Given the description of an element on the screen output the (x, y) to click on. 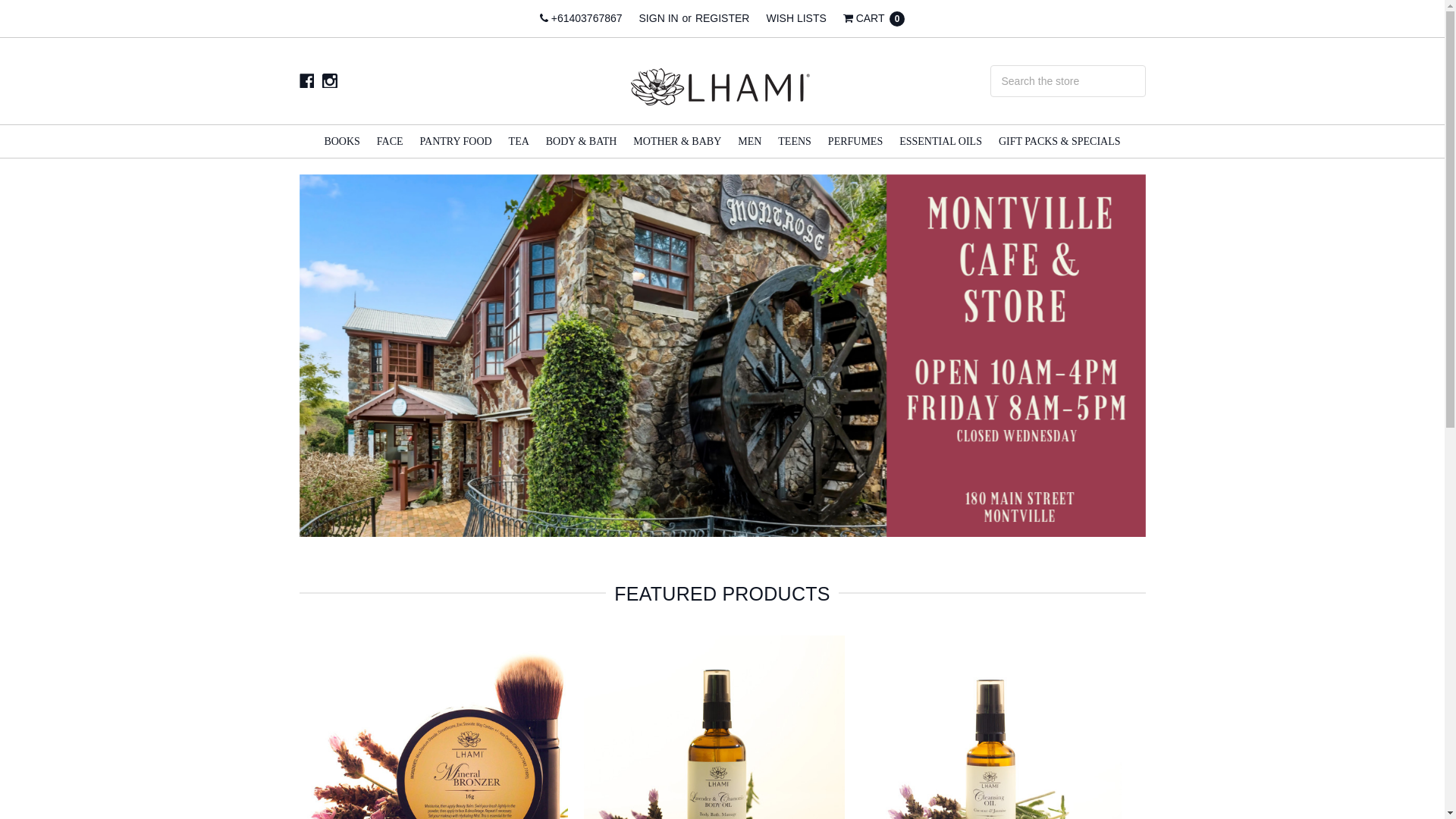
GIFT PACKS & SPECIALS Element type: text (1059, 141)
BOOKS Element type: text (341, 141)
MEN Element type: text (749, 141)
PERFUMES Element type: text (855, 141)
TEA Element type: text (518, 141)
FACE Element type: text (389, 141)
BODY & BATH Element type: text (581, 141)
TEENS Element type: text (794, 141)
WISH LISTS Element type: text (795, 18)
REGISTER Element type: text (722, 18)
CART 0 Element type: text (873, 18)
MOTHER & BABY Element type: text (676, 141)
+61403767867 Element type: text (580, 18)
Add to Wish List Element type: text (1104, 674)
Add to Wish List Element type: text (550, 674)
Lhami Element type: hover (722, 80)
Add to Wish List Element type: text (827, 674)
ESSENTIAL OILS Element type: text (940, 141)
SIGN IN Element type: text (658, 18)
PANTRY FOOD Element type: text (455, 141)
